Given the description of an element on the screen output the (x, y) to click on. 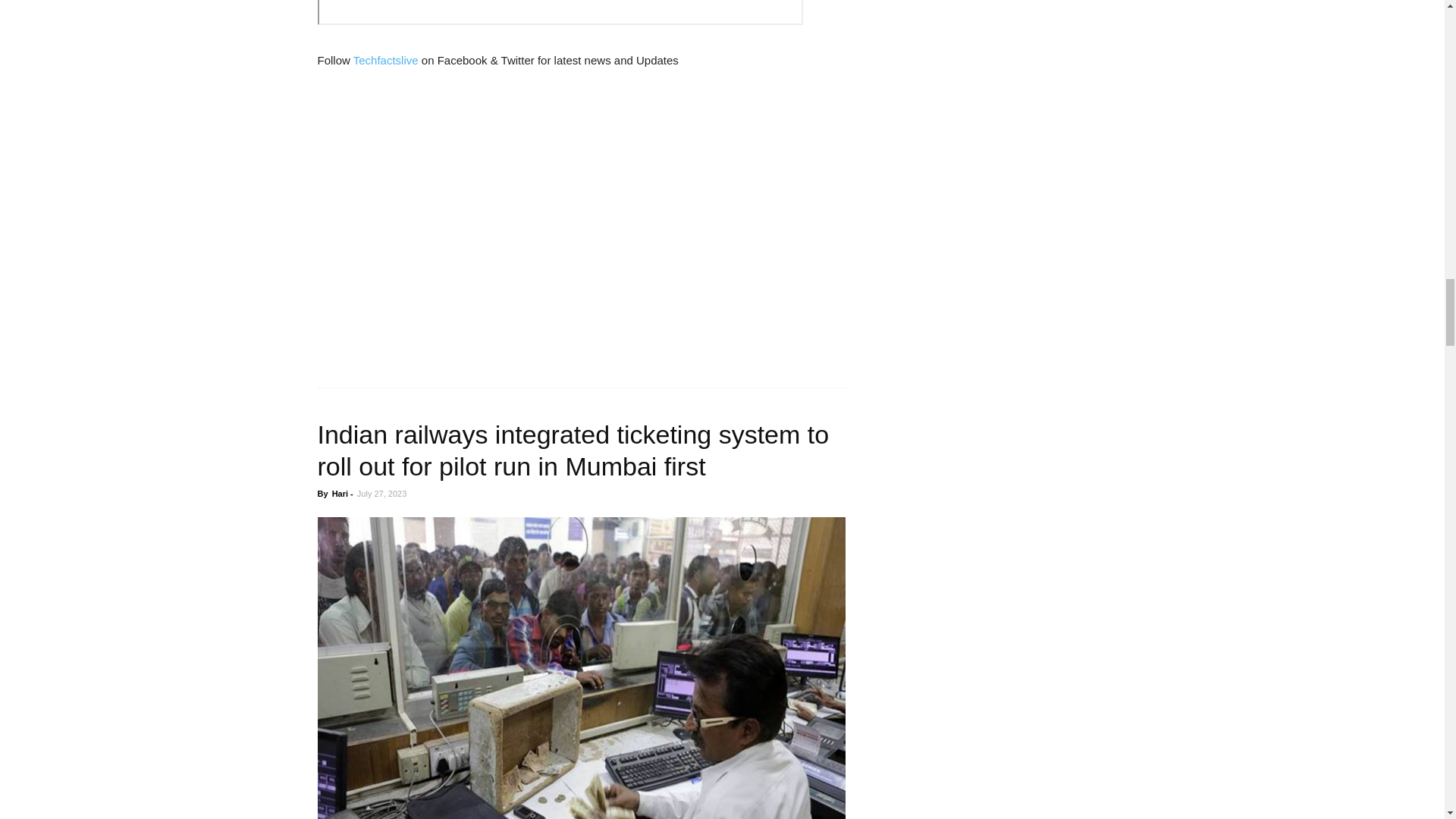
Whistle Feed Ads (430, 225)
